Given the description of an element on the screen output the (x, y) to click on. 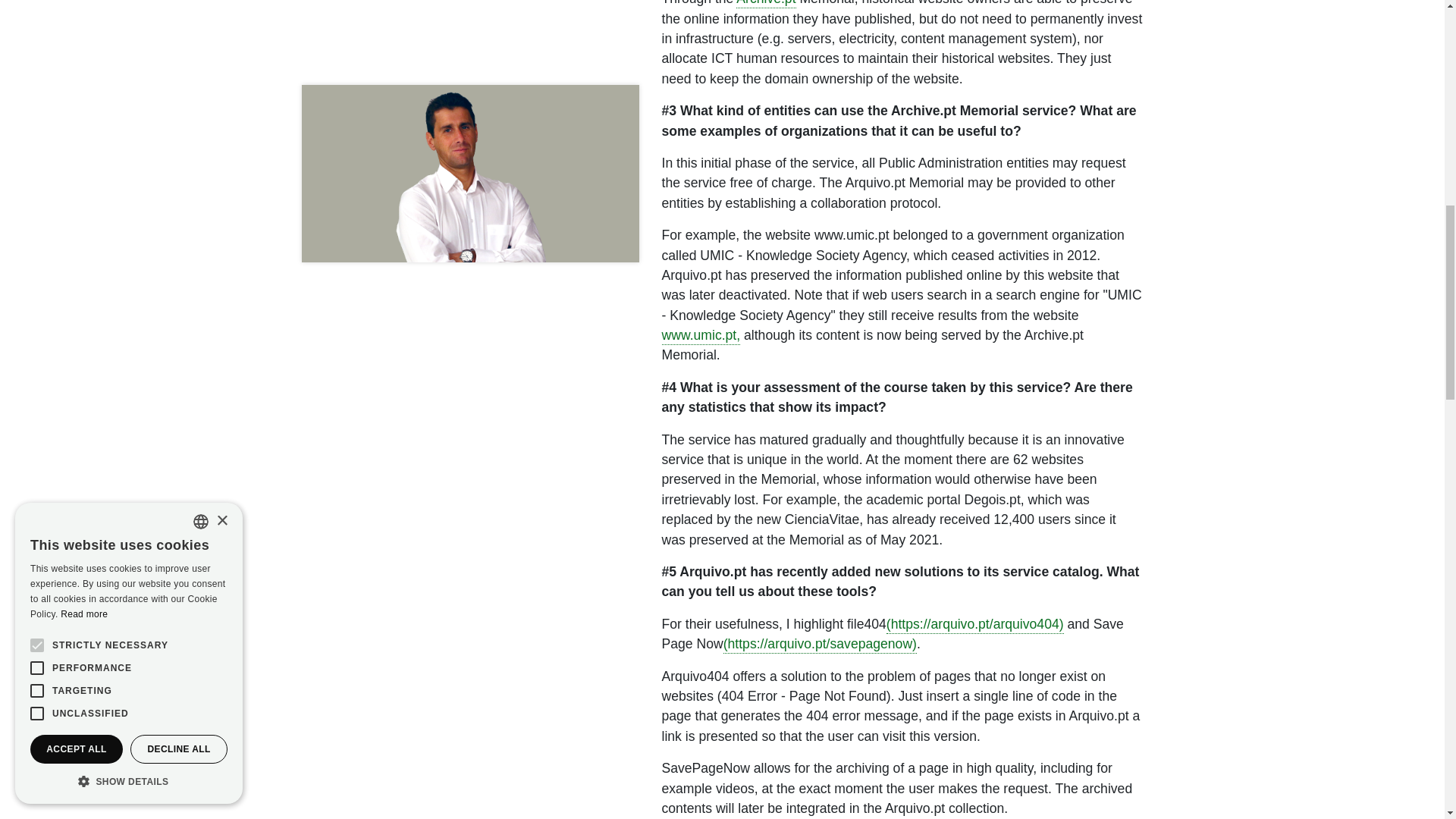
Archive.pt (765, 4)
www.umic.pt, (700, 335)
